Given the description of an element on the screen output the (x, y) to click on. 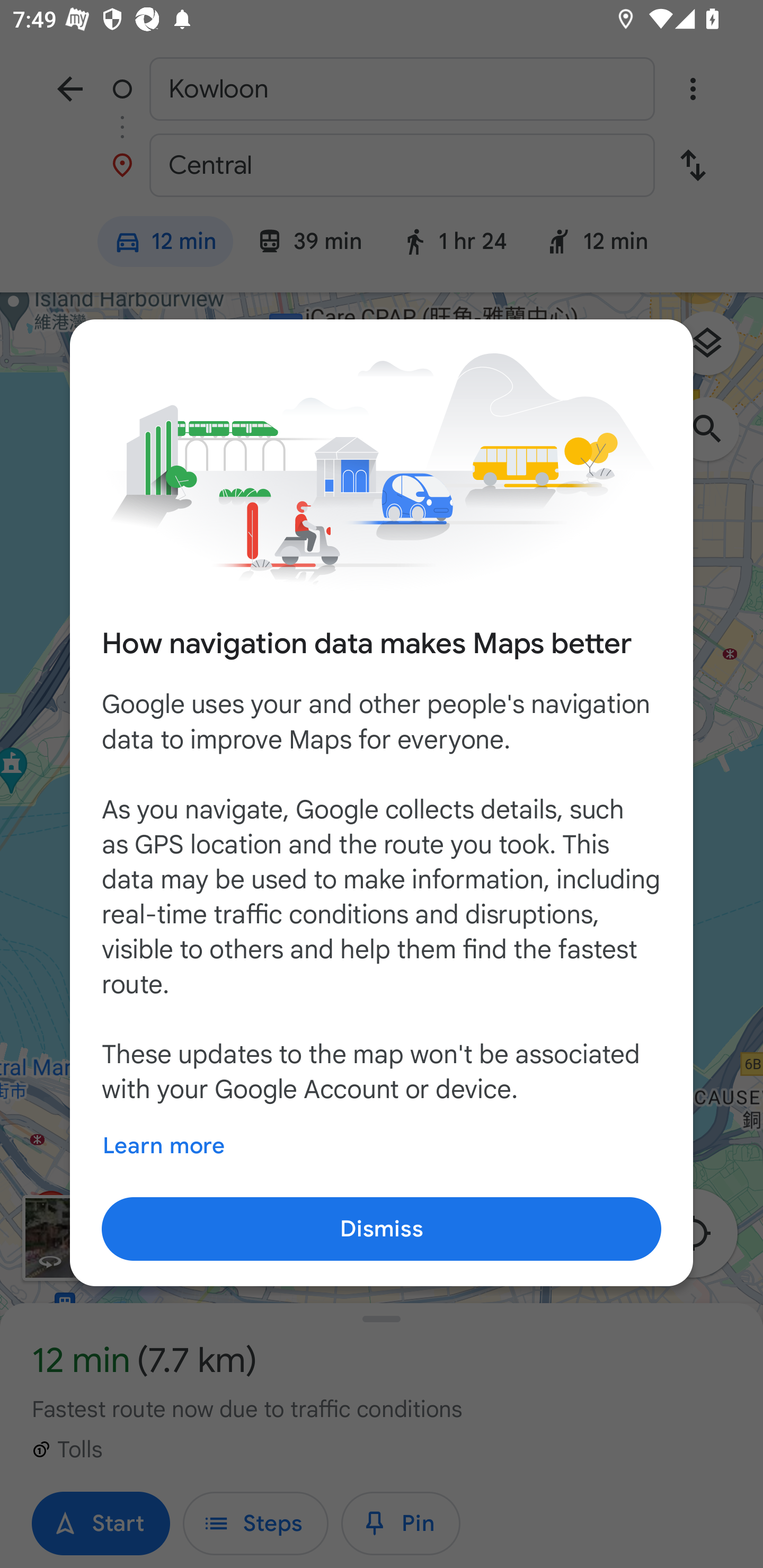
Learn more (163, 1145)
Dismiss Dismiss Dismiss (381, 1228)
